Given the description of an element on the screen output the (x, y) to click on. 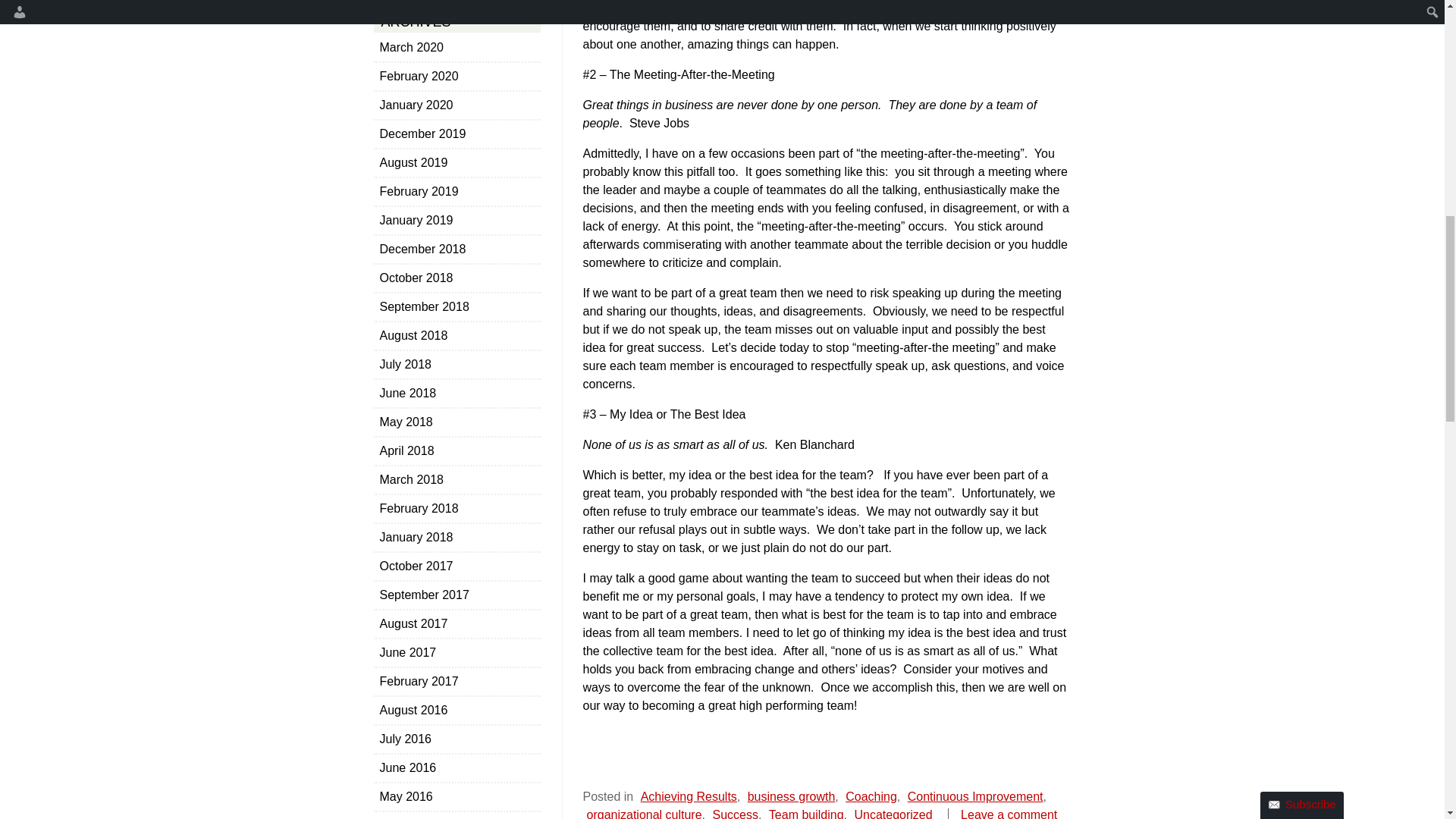
March 2020 (456, 46)
January 2019 (456, 219)
October 2018 (456, 277)
February 2020 (456, 75)
September 2018 (456, 306)
August 2018 (456, 334)
December 2019 (456, 133)
August 2019 (456, 161)
January 2020 (456, 104)
Subscribe me! (1027, 147)
December 2018 (456, 248)
July 2018 (456, 363)
June 2018 (456, 392)
February 2019 (456, 191)
